Given the description of an element on the screen output the (x, y) to click on. 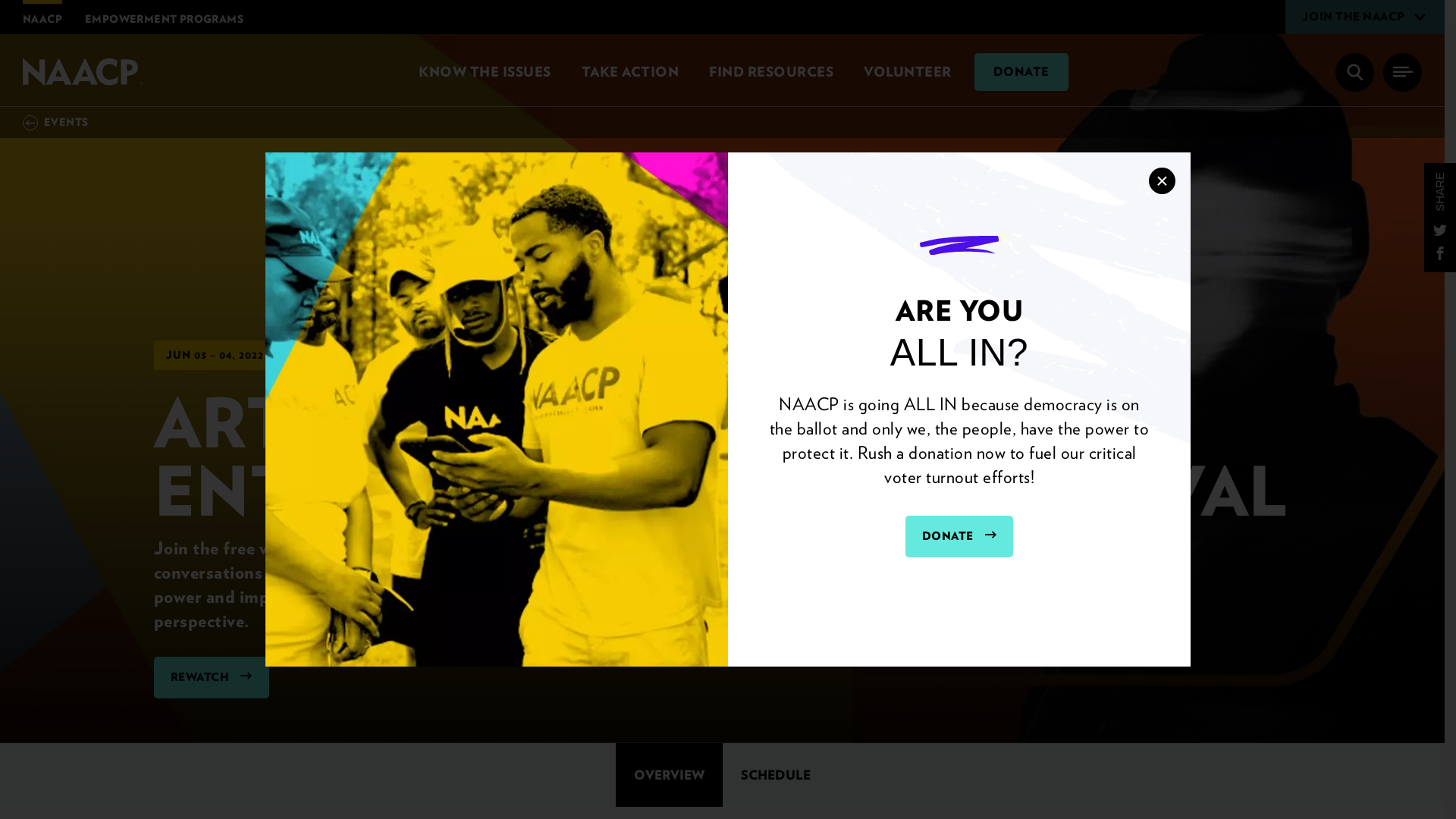
DONATE (959, 535)
All Issues (484, 71)
Action Center (630, 71)
NAACP (84, 71)
